Given the description of an element on the screen output the (x, y) to click on. 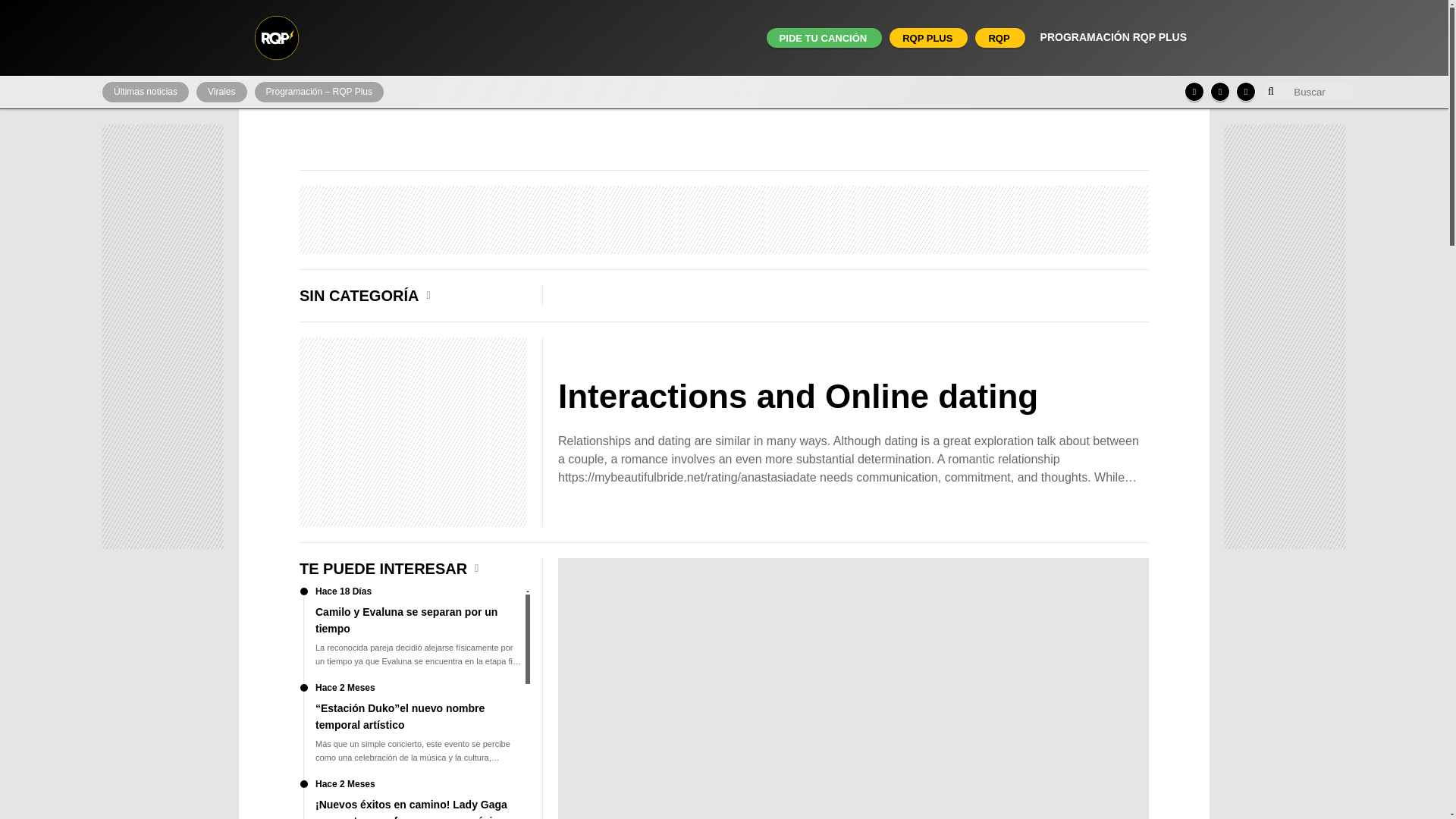
Camilo y Evaluna se separan por un tiempo (413, 635)
RQP - Bolivia (276, 37)
Virales (221, 91)
RQP (997, 37)
RQP PLUS (927, 37)
